Given the description of an element on the screen output the (x, y) to click on. 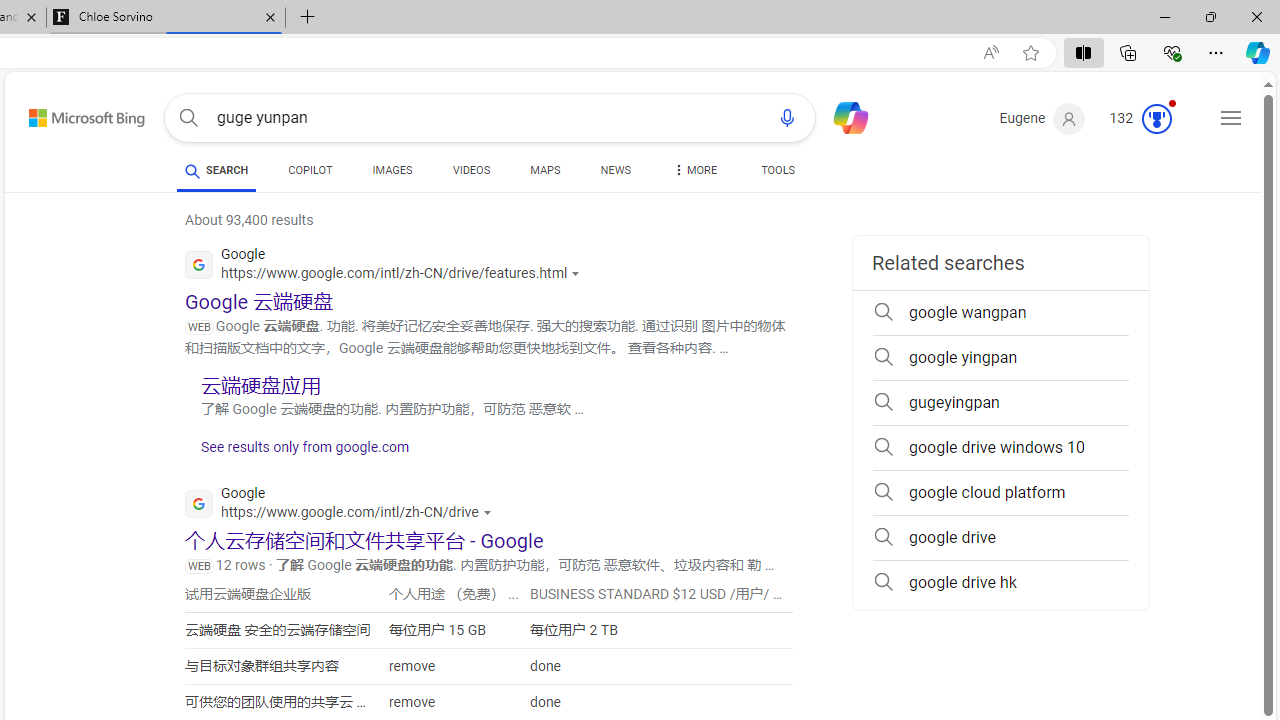
See results only from google.com (297, 452)
google drive windows 10 (1000, 448)
google wangpan (1000, 312)
Class: outer-circle-animation (1156, 118)
Search (188, 117)
SEARCH (216, 170)
MAPS (545, 170)
google cloud platform (1000, 492)
SEARCH (216, 170)
Google (343, 506)
TOOLS (777, 170)
